Given the description of an element on the screen output the (x, y) to click on. 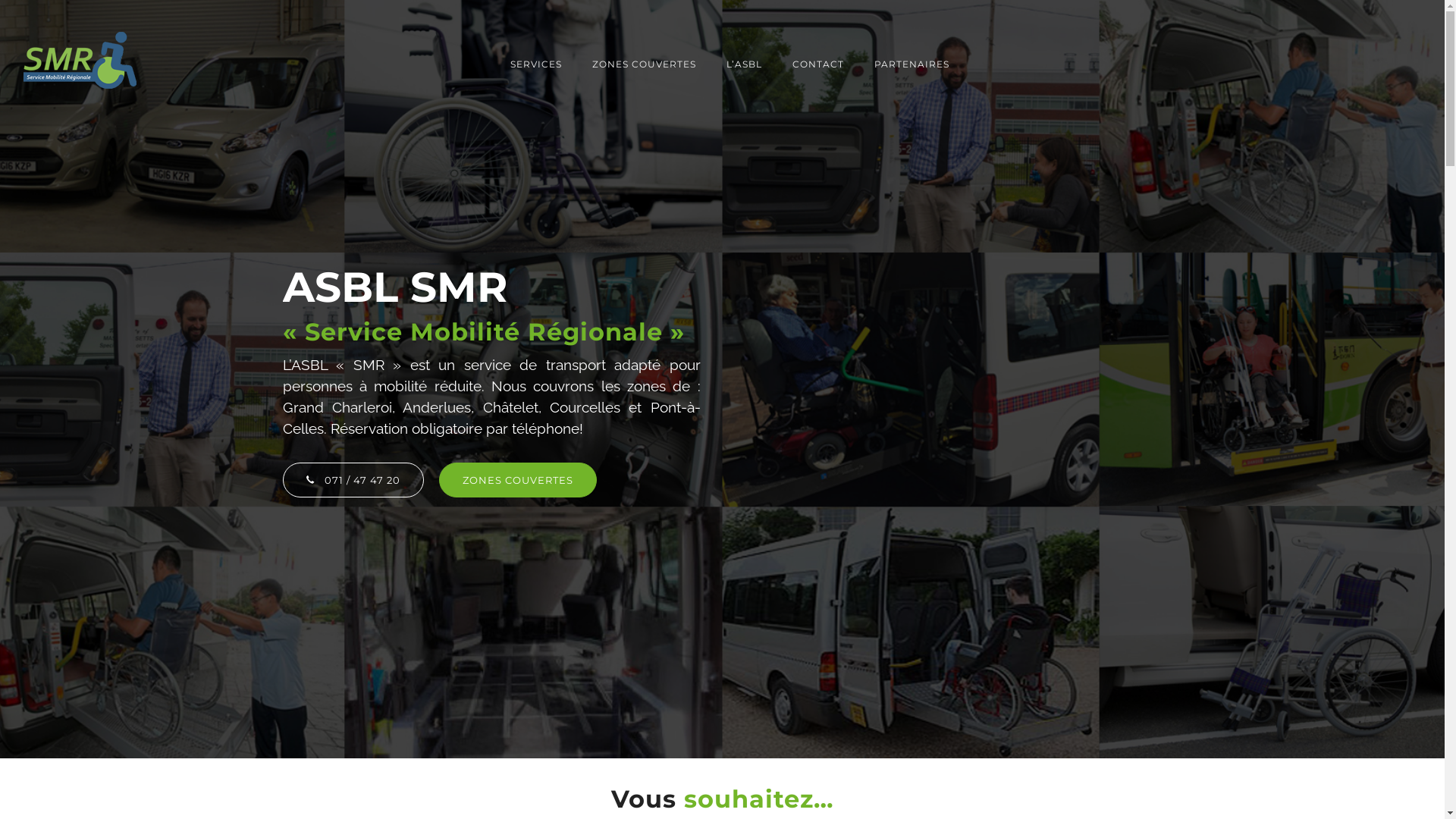
SERVICES Element type: text (536, 63)
PARTENAIRES Element type: text (904, 63)
071 / 47 47 20 Element type: text (352, 479)
ZONES COUVERTES Element type: text (644, 63)
ZONES COUVERTES Element type: text (517, 479)
CONTACT Element type: text (818, 63)
